Given the description of an element on the screen output the (x, y) to click on. 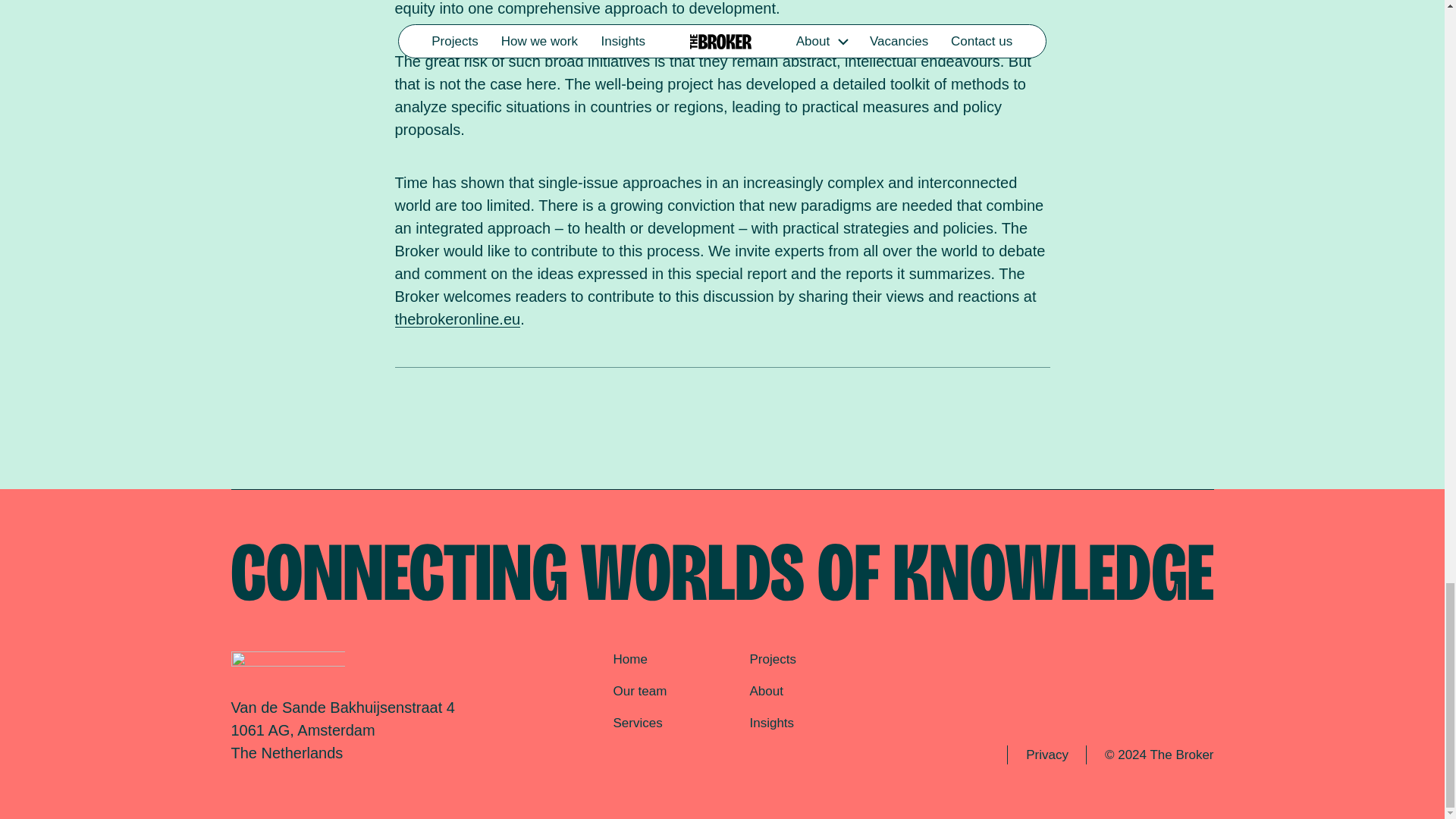
Insights (771, 722)
Projects (771, 658)
About (766, 690)
thebrokeronline.eu (456, 319)
Privacy (1046, 754)
Our team (639, 690)
Home (629, 658)
Services (637, 722)
